Given the description of an element on the screen output the (x, y) to click on. 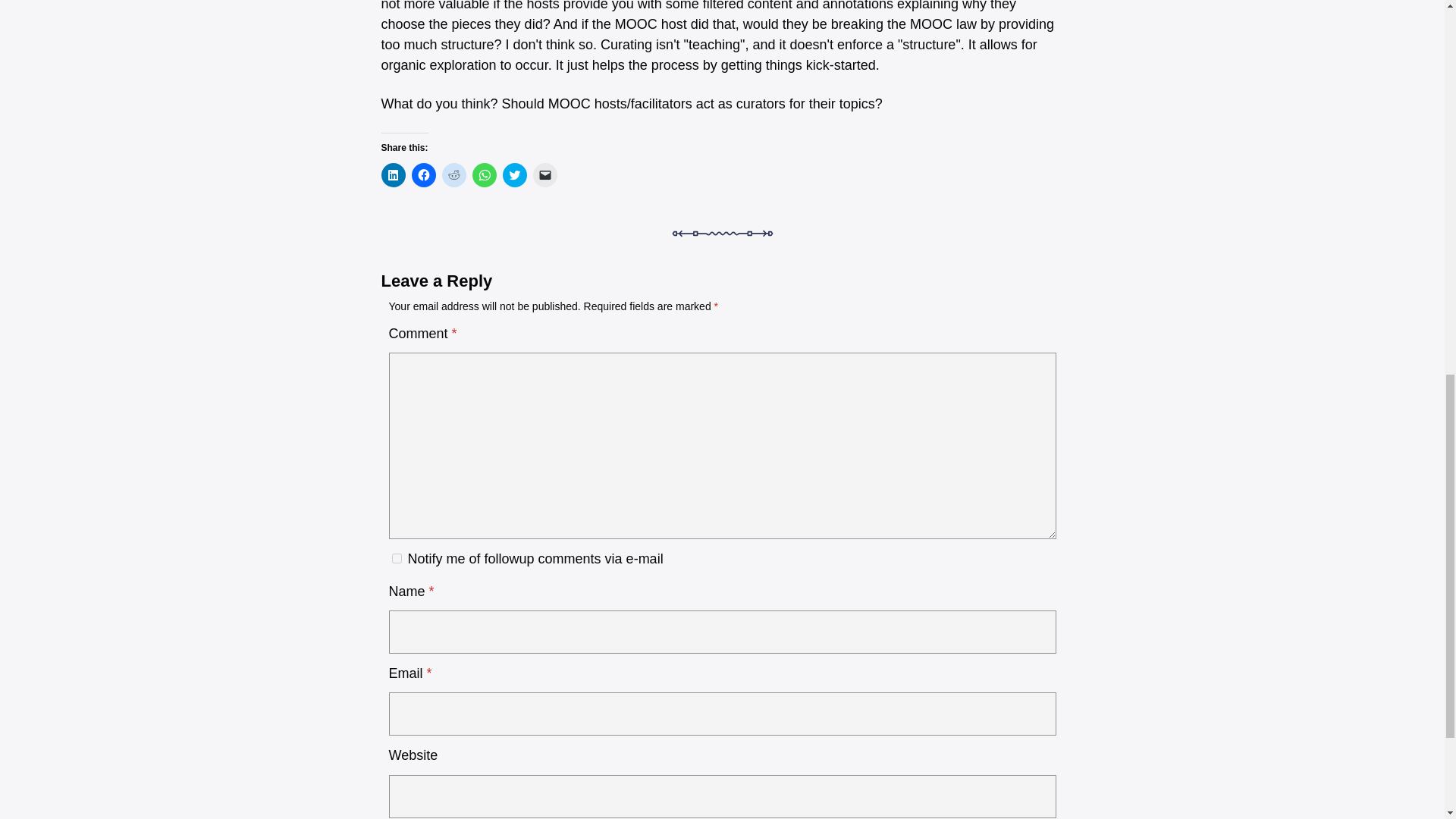
subscribe (396, 558)
Click to share on Twitter (513, 174)
Click to share on WhatsApp (483, 174)
Click to share on LinkedIn (392, 174)
Click to share on Reddit (453, 174)
Click to email a link to a friend (544, 174)
Click to share on Facebook (422, 174)
